Given the description of an element on the screen output the (x, y) to click on. 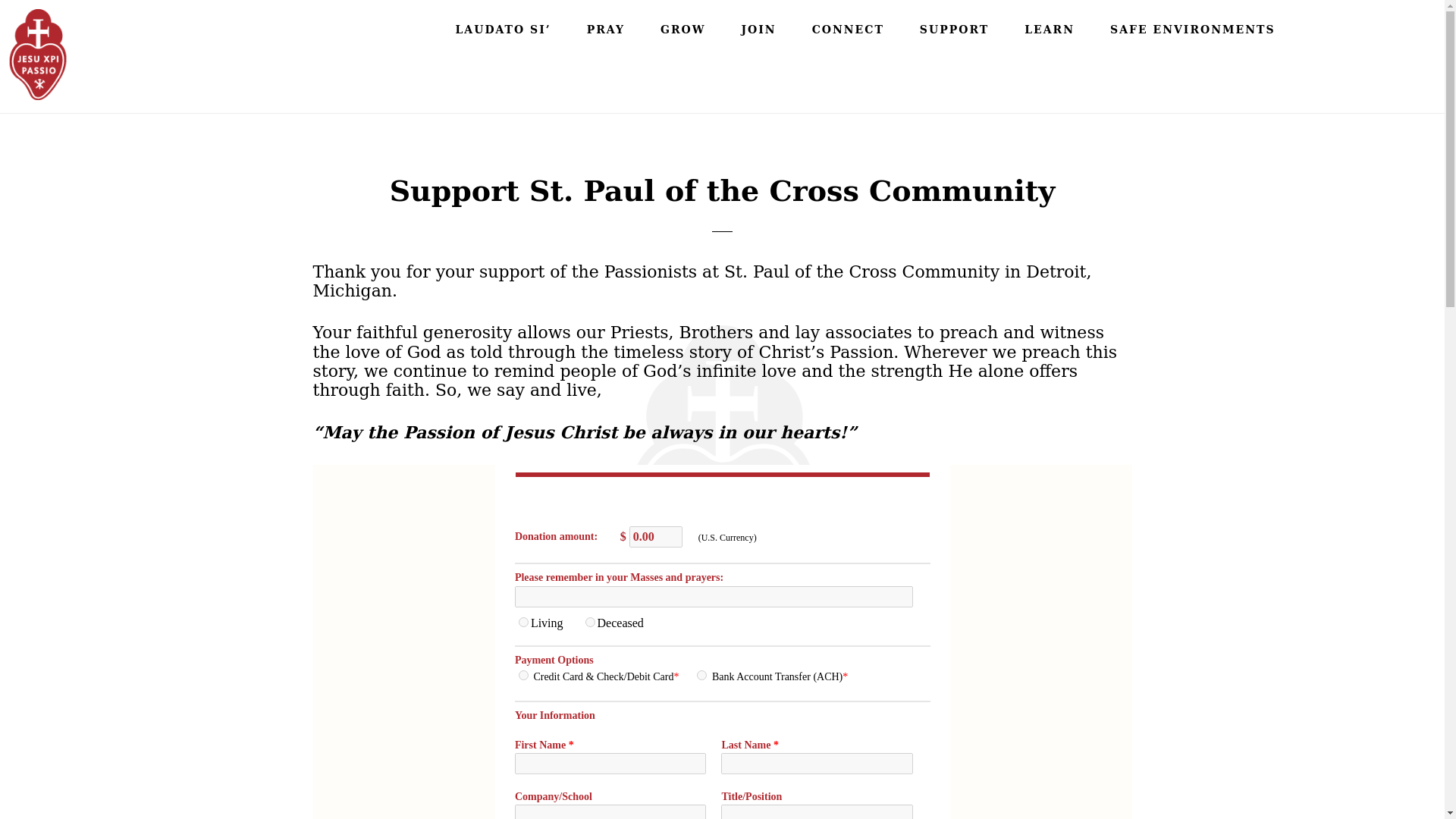
GROW (682, 29)
PRAY (606, 29)
